Given the description of an element on the screen output the (x, y) to click on. 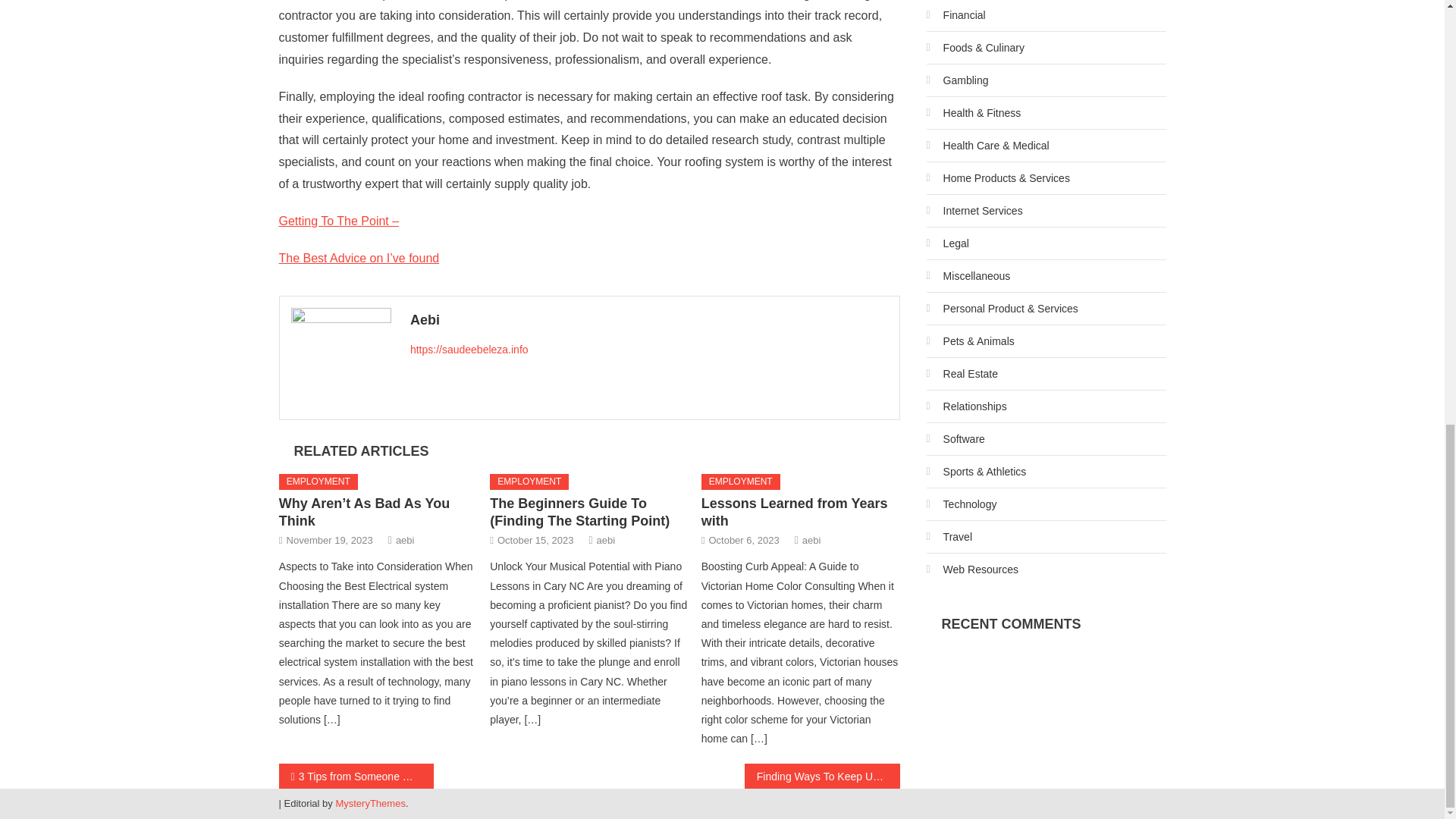
3 Tips from Someone With Experience (356, 775)
aebi (405, 539)
October 15, 2023 (535, 539)
Aebi (649, 319)
November 19, 2023 (329, 539)
Finding Ways To Keep Up With (821, 775)
EMPLOYMENT (318, 482)
October 6, 2023 (742, 539)
aebi (811, 539)
EMPLOYMENT (529, 482)
aebi (605, 539)
Lessons Learned from Years with (794, 512)
EMPLOYMENT (740, 482)
